Given the description of an element on the screen output the (x, y) to click on. 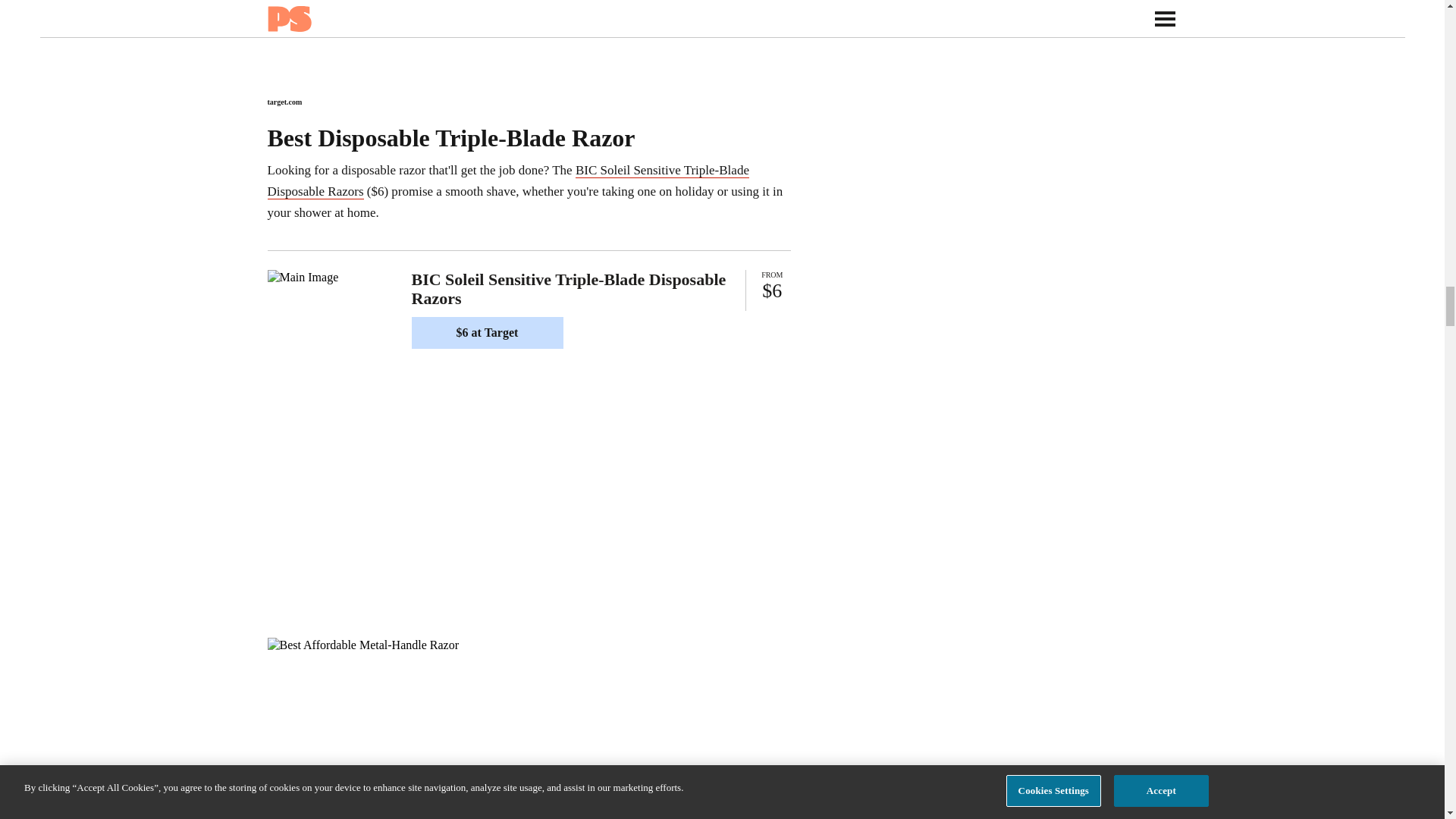
target.com (283, 101)
BIC Soleil Sensitive Triple-Blade Disposable Razors (507, 180)
